Given the description of an element on the screen output the (x, y) to click on. 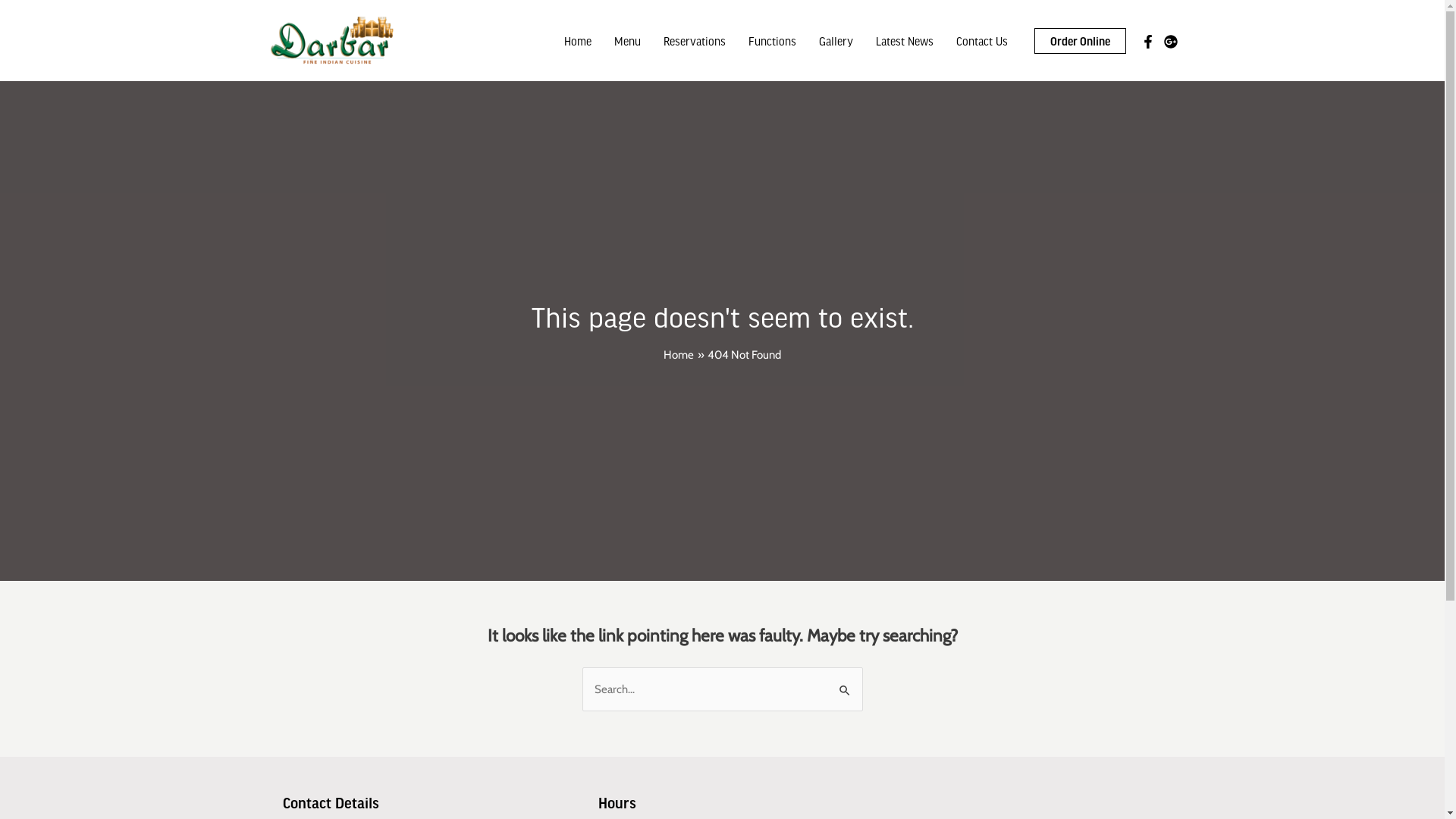
Contact Us Element type: text (981, 39)
Gallery Element type: text (834, 39)
Latest News Element type: text (904, 39)
Order Online Element type: text (1080, 40)
Home Element type: text (577, 39)
Search Element type: text (845, 682)
Functions Element type: text (772, 39)
Home Element type: text (678, 354)
Menu Element type: text (626, 39)
Reservations Element type: text (694, 39)
